Given the description of an element on the screen output the (x, y) to click on. 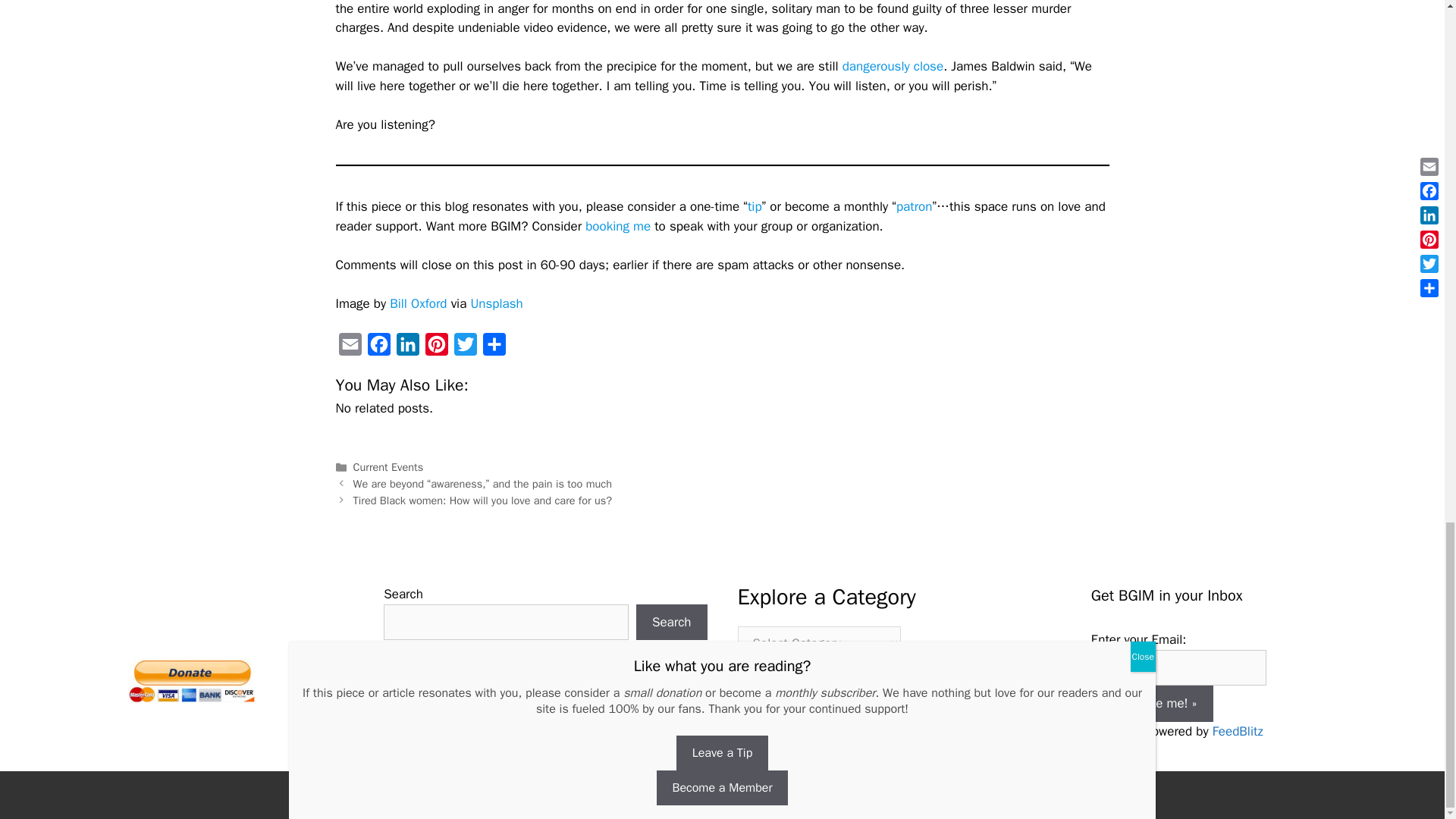
Unsplash (496, 303)
Current Events (388, 467)
FeedBlitz (1237, 731)
Next (482, 499)
Pinterest (435, 347)
patron (914, 206)
Bill Oxford (418, 303)
Preview (1112, 731)
Pinterest (435, 347)
Black Girl In Maine (631, 794)
Search (671, 622)
LinkedIn (407, 347)
Twitter (464, 347)
Previous (482, 483)
booking me (617, 226)
